Given the description of an element on the screen output the (x, y) to click on. 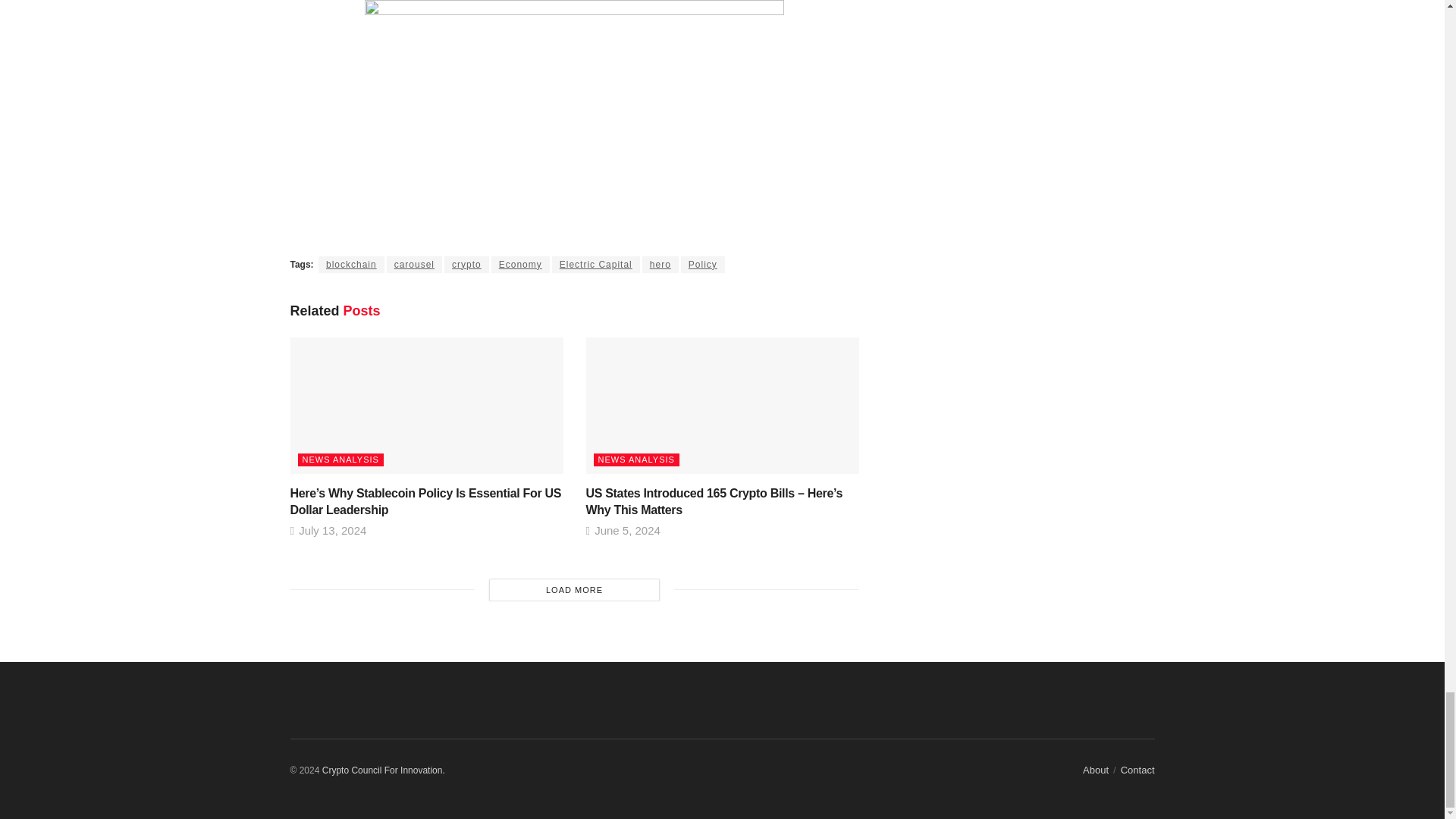
Crypto Council For Innovation (383, 769)
